Given the description of an element on the screen output the (x, y) to click on. 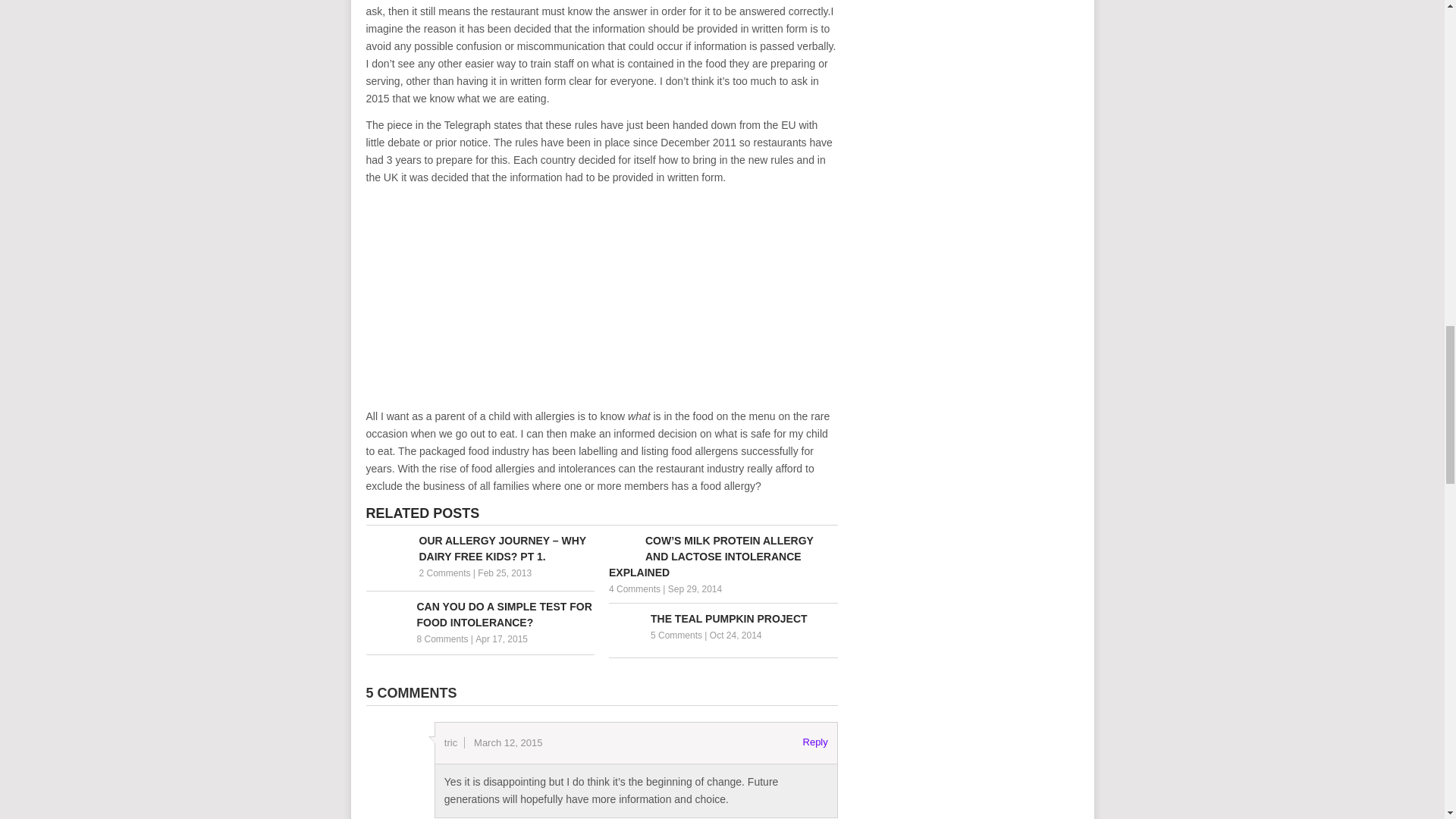
The Teal Pumpkin Project (723, 618)
tric (450, 742)
8 Comments (442, 638)
4 Comments (634, 588)
THE TEAL PUMPKIN PROJECT (723, 618)
Can you do a simple test for Food Intolerance? (479, 614)
Advertisement (602, 301)
CAN YOU DO A SIMPLE TEST FOR FOOD INTOLERANCE? (479, 614)
2 Comments (444, 573)
Reply (815, 742)
